Given the description of an element on the screen output the (x, y) to click on. 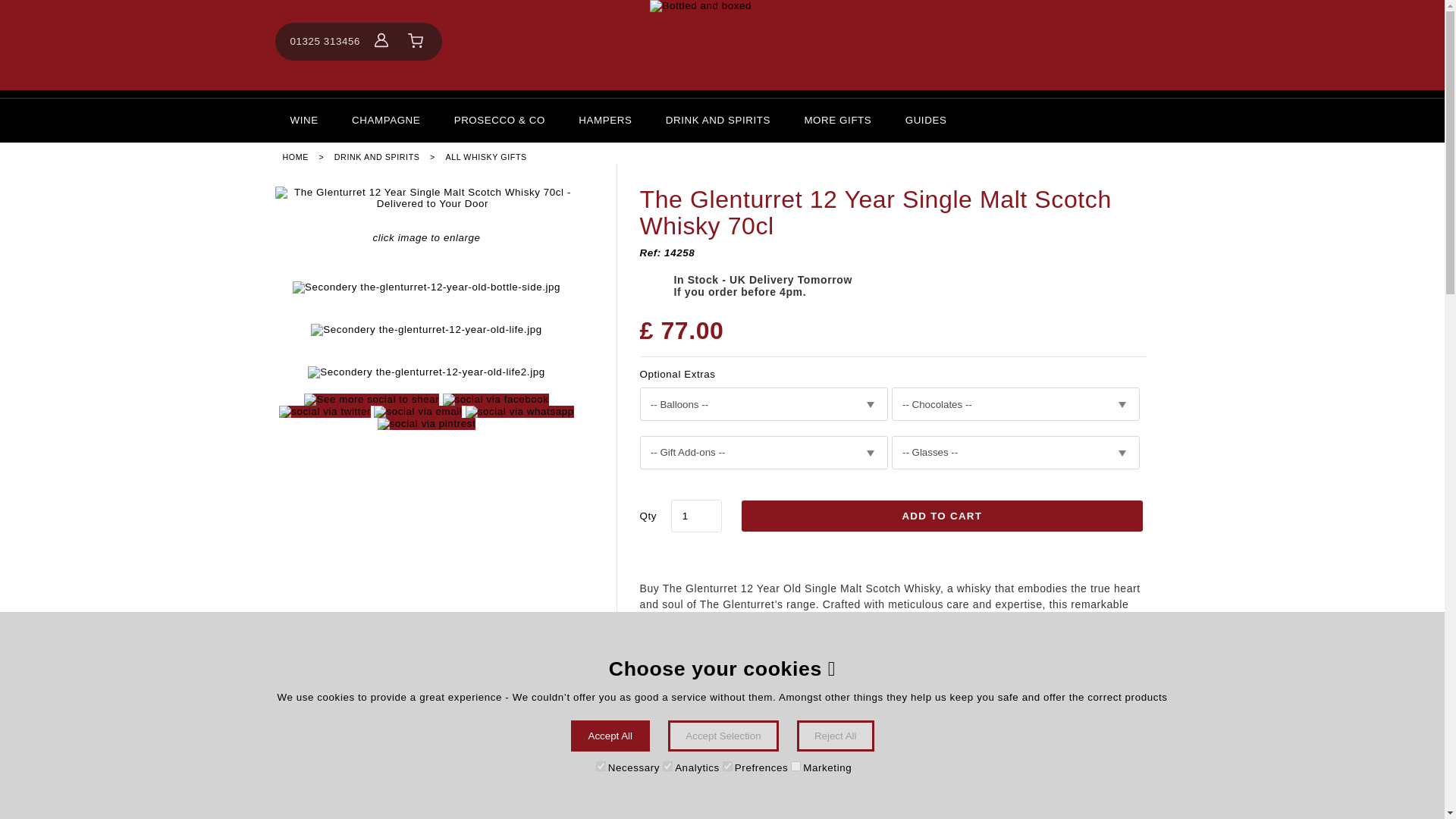
Home (721, 45)
View Basket (415, 41)
Accout button (380, 41)
Marketing (795, 766)
Manage Account (380, 41)
Accout button (381, 39)
WINE (304, 120)
Prefrences (727, 766)
1 (696, 516)
Analytics (667, 766)
